Given the description of an element on the screen output the (x, y) to click on. 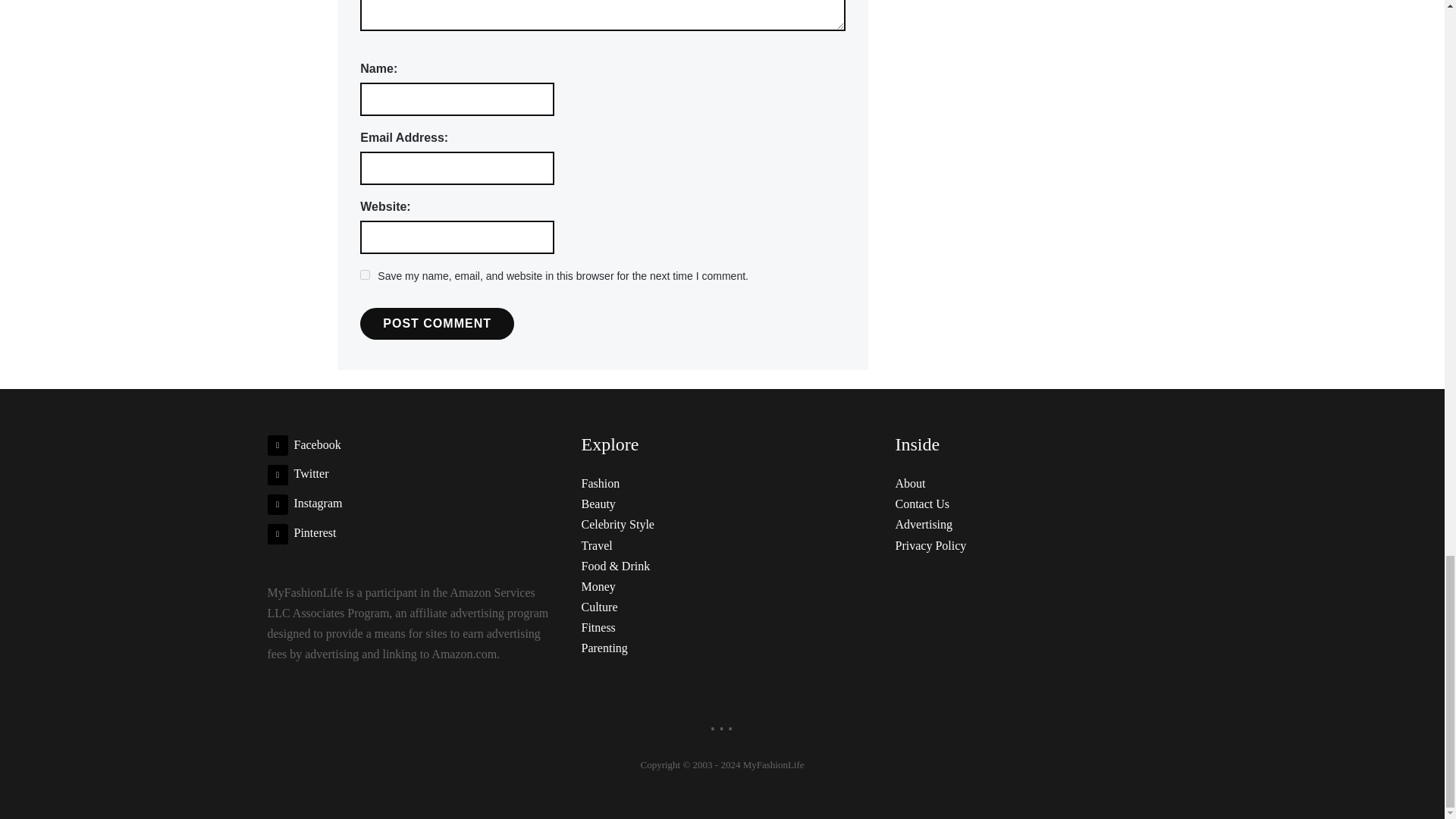
Post Comment (436, 323)
Twitter (297, 472)
Instagram (304, 502)
yes (364, 275)
Facebook (303, 444)
